Given the description of an element on the screen output the (x, y) to click on. 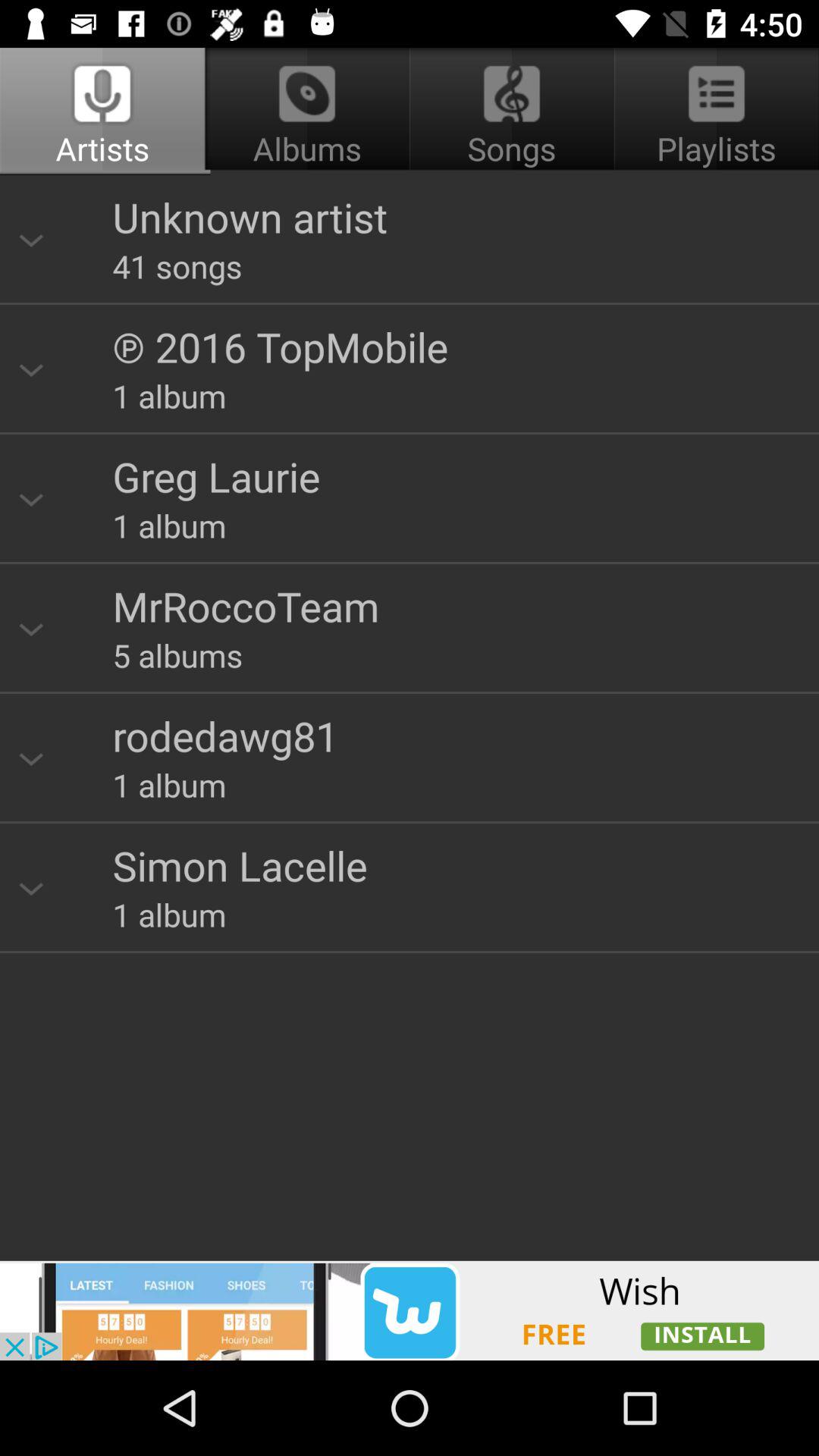
install app (409, 1310)
